Given the description of an element on the screen output the (x, y) to click on. 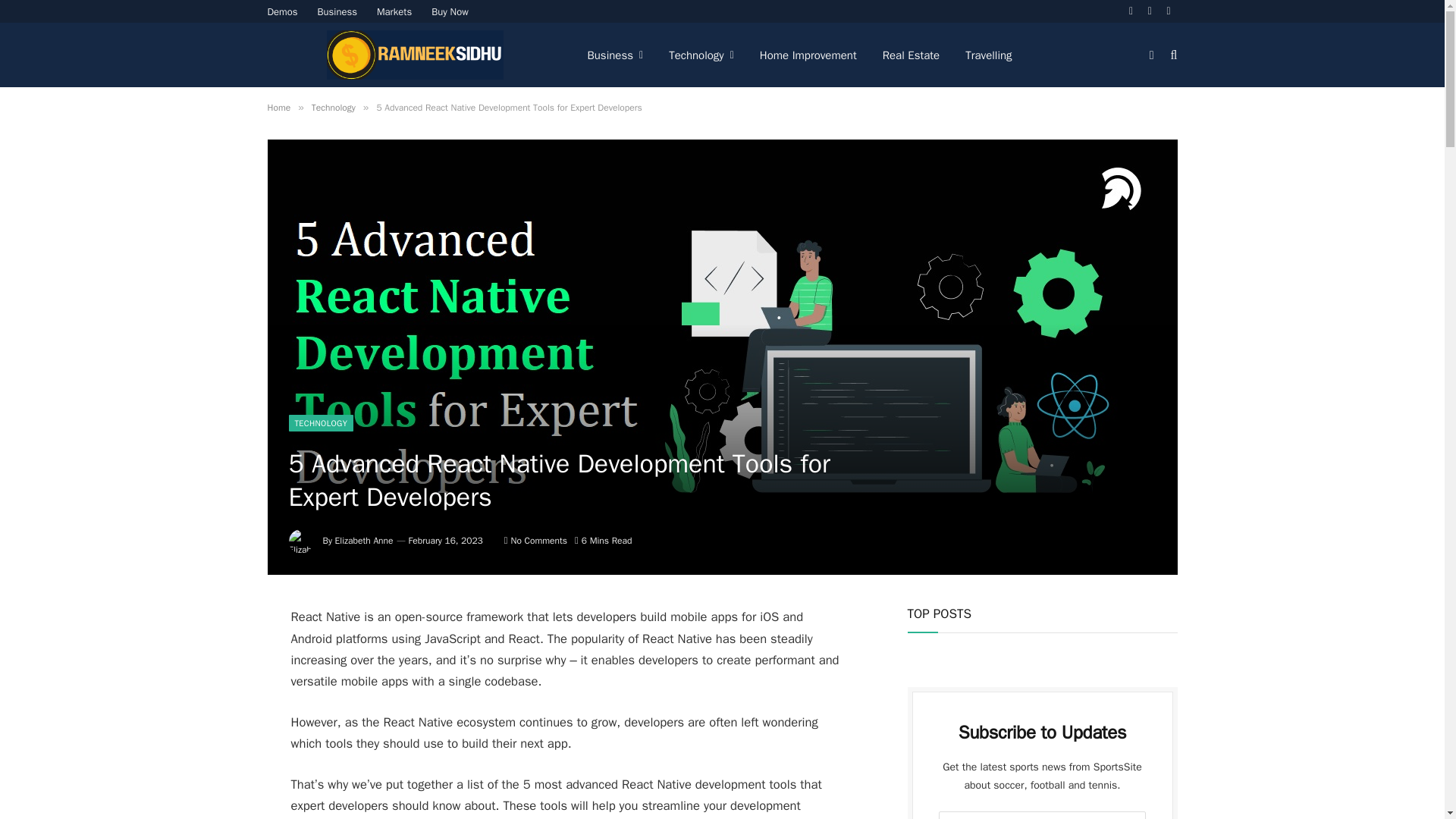
Business (615, 54)
Business (336, 11)
Buy Now (450, 11)
Technology (701, 54)
Markets (394, 11)
Ramneek Sidhu (414, 54)
Demos (282, 11)
